Given the description of an element on the screen output the (x, y) to click on. 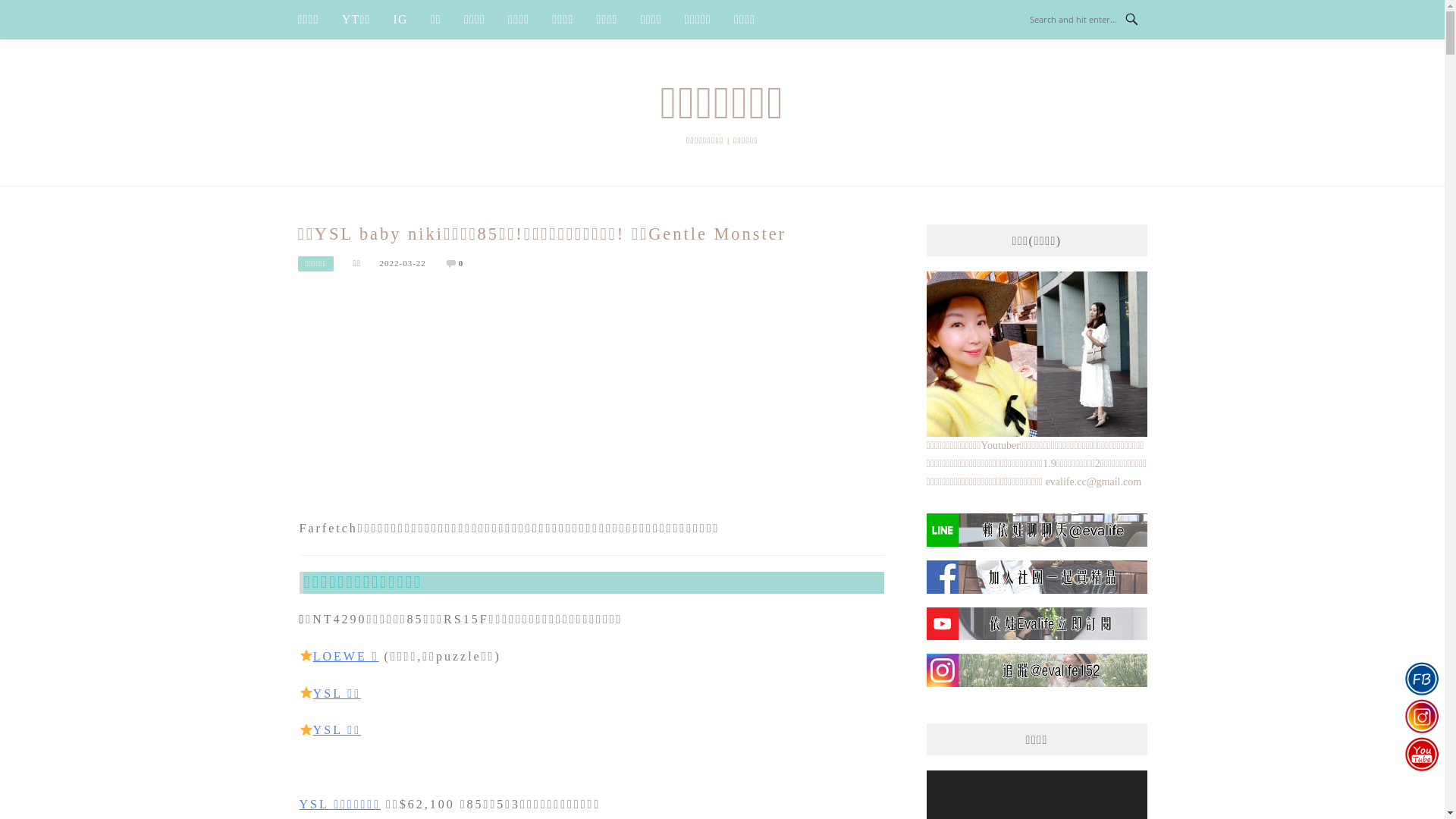
0 Element type: text (461, 262)
IG Element type: text (400, 19)
Advertisement Element type: hover (590, 404)
